Given the description of an element on the screen output the (x, y) to click on. 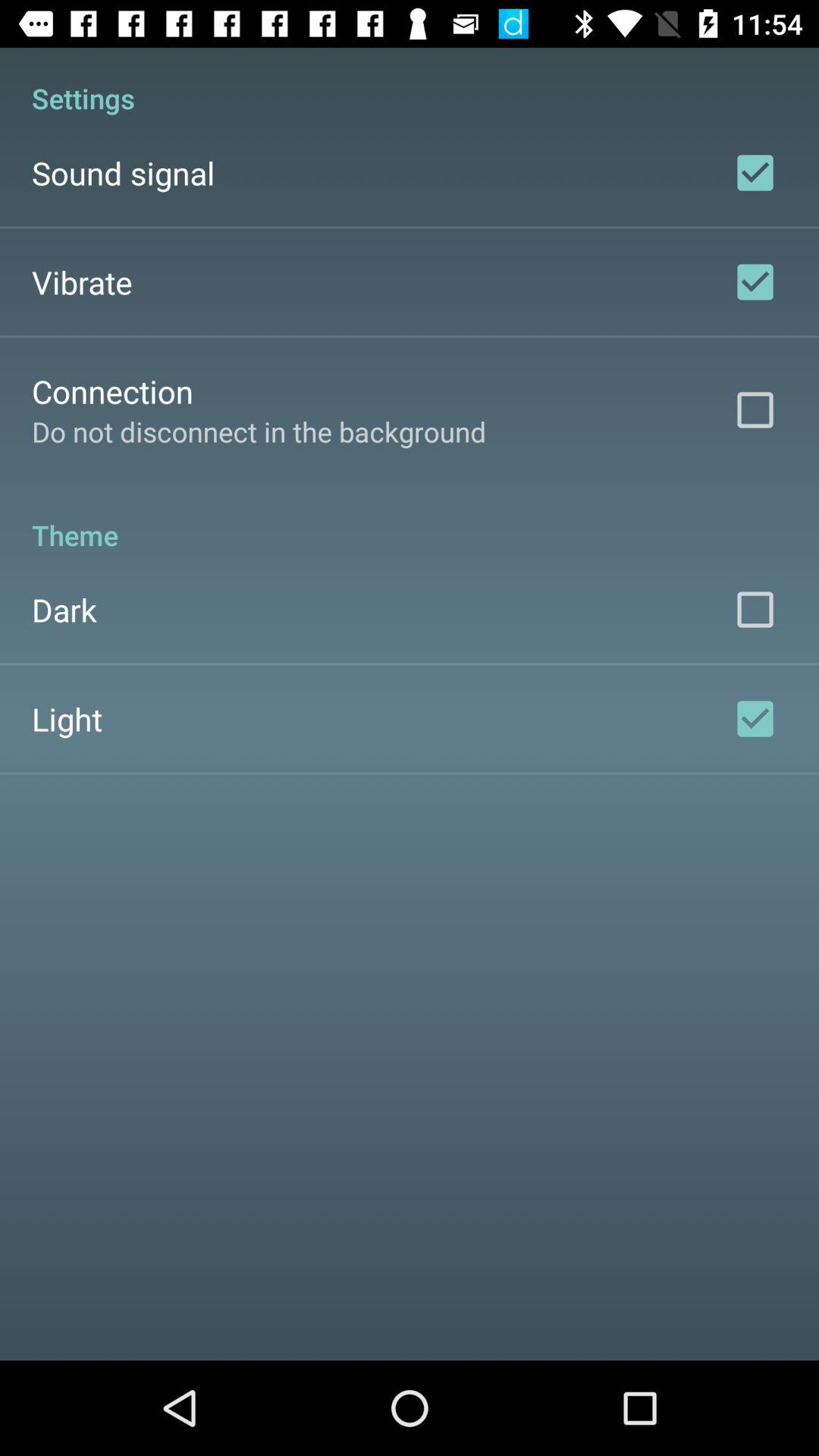
launch item above do not disconnect app (112, 390)
